Given the description of an element on the screen output the (x, y) to click on. 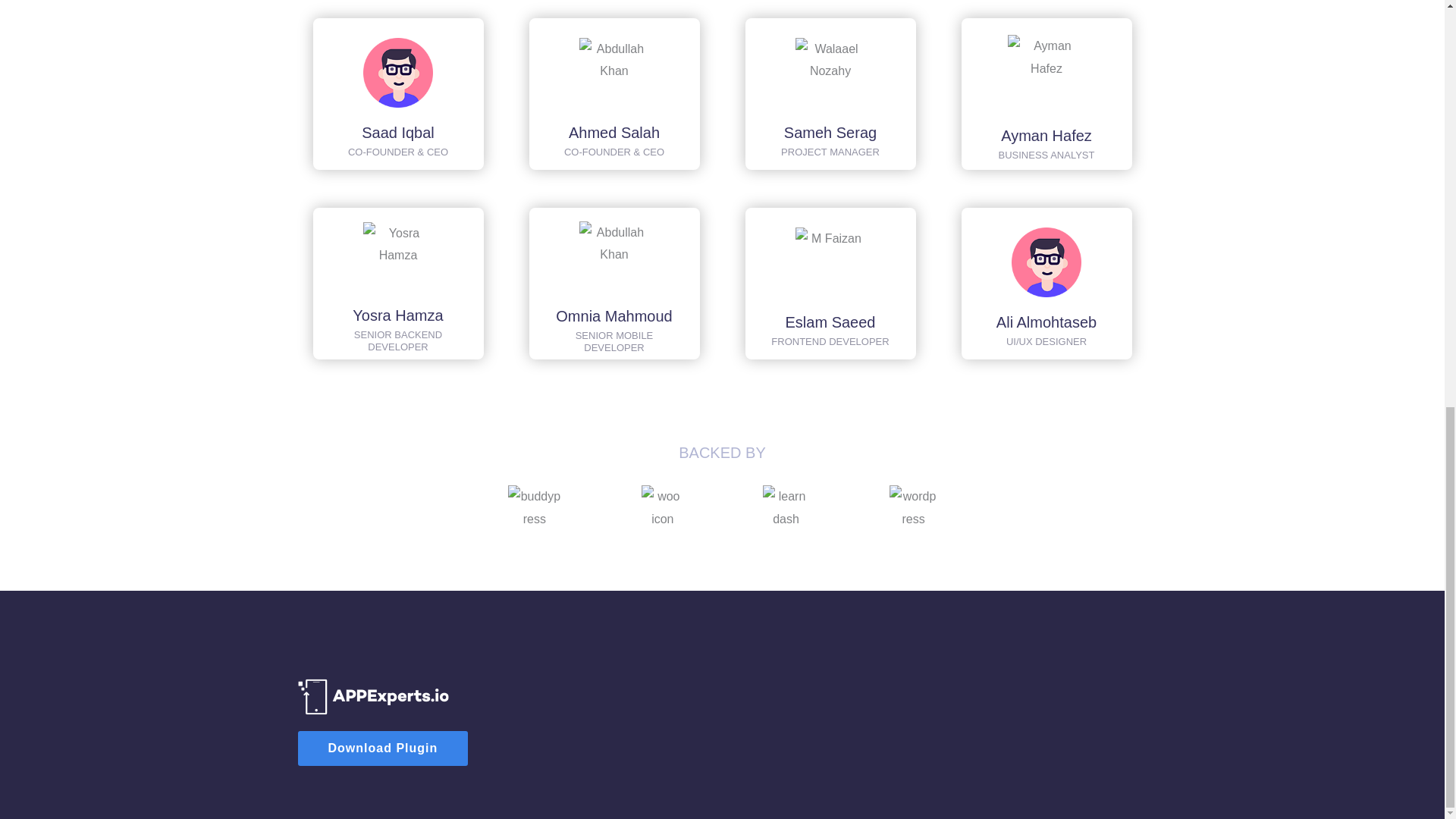
Download Plugin (382, 748)
